Given the description of an element on the screen output the (x, y) to click on. 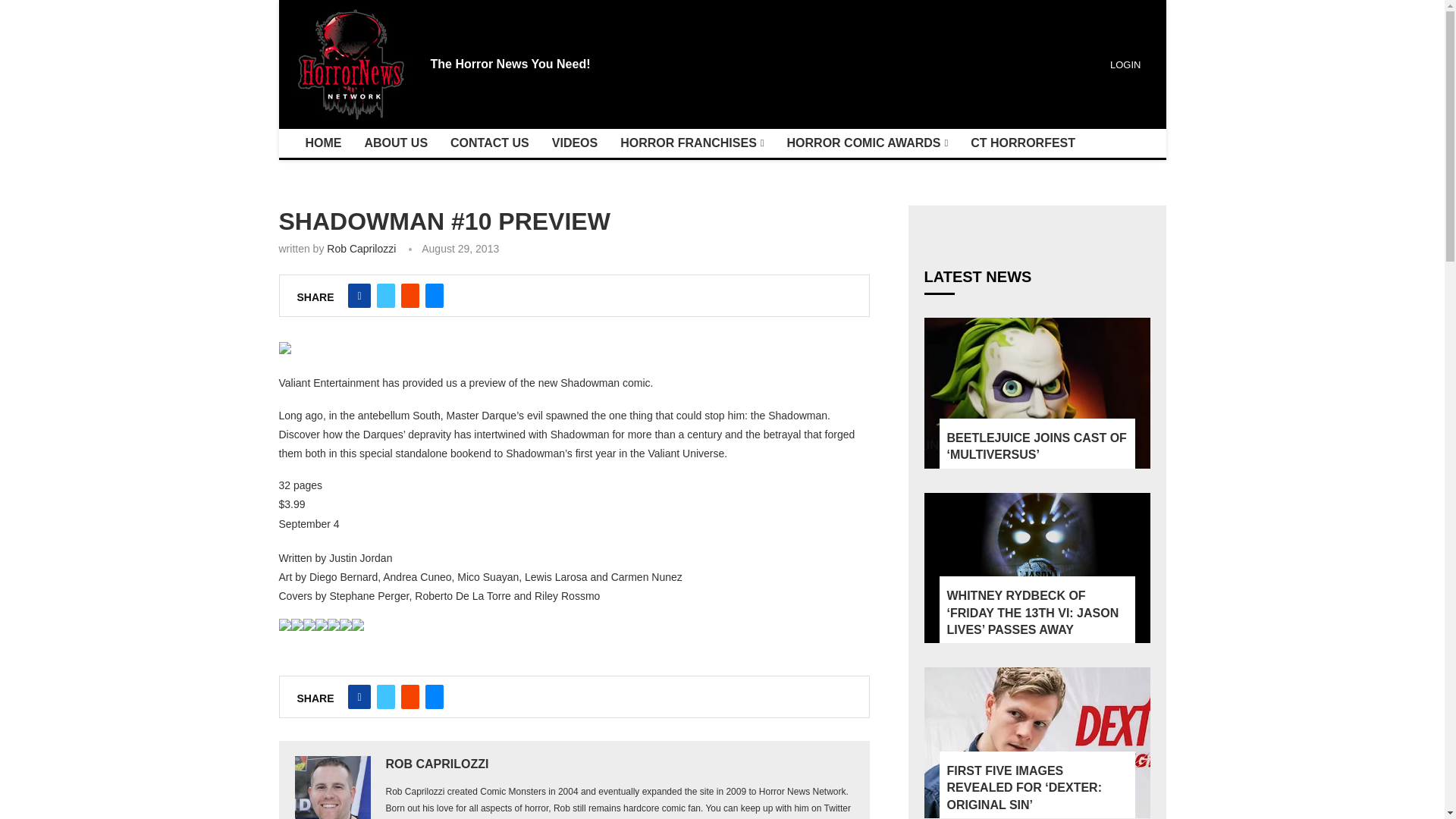
LOGIN (1123, 64)
ABOUT US (396, 143)
HOME (323, 143)
Author Rob Caprilozzi (436, 764)
CONTACT US (489, 143)
VIDEOS (574, 143)
HORROR FRANCHISES (691, 143)
The Horror News You Need! (510, 63)
